Given the description of an element on the screen output the (x, y) to click on. 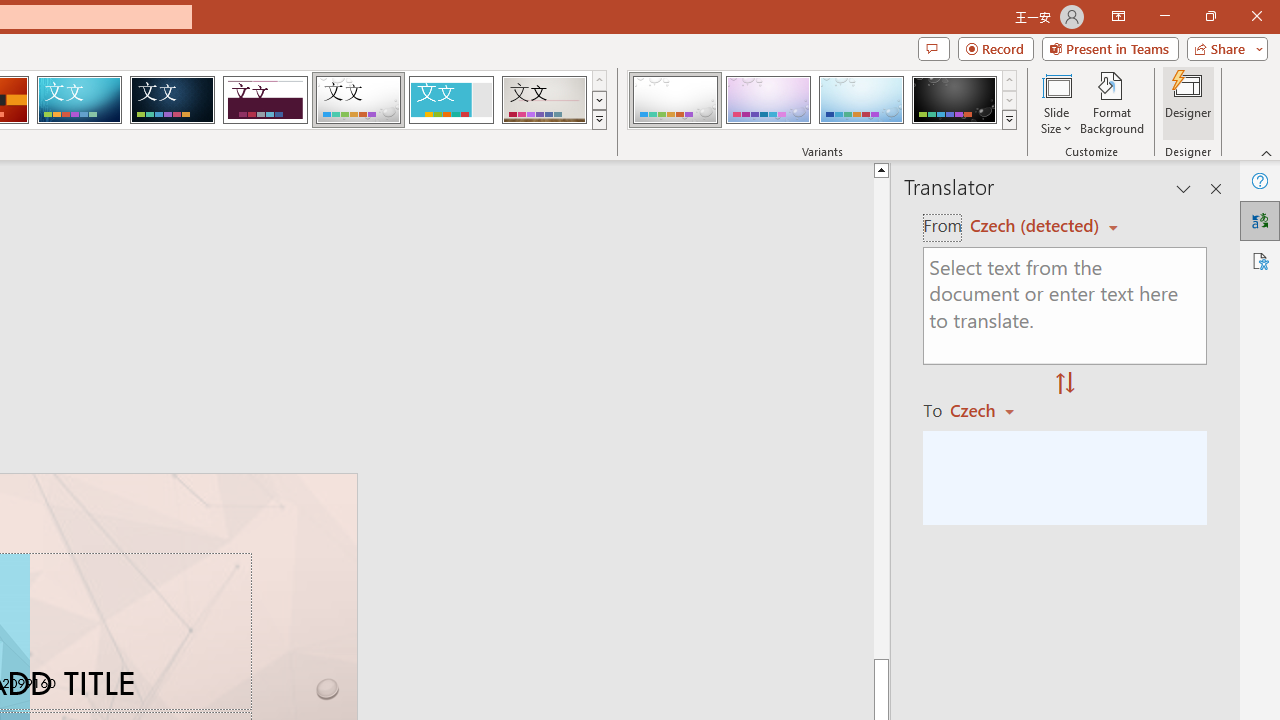
Droplet Variant 2 (768, 100)
Swap "from" and "to" languages. (1065, 383)
Damask (171, 100)
Circuit (79, 100)
Format Background (1111, 102)
AutomationID: ThemeVariantsGallery (822, 99)
Czech (991, 409)
